Given the description of an element on the screen output the (x, y) to click on. 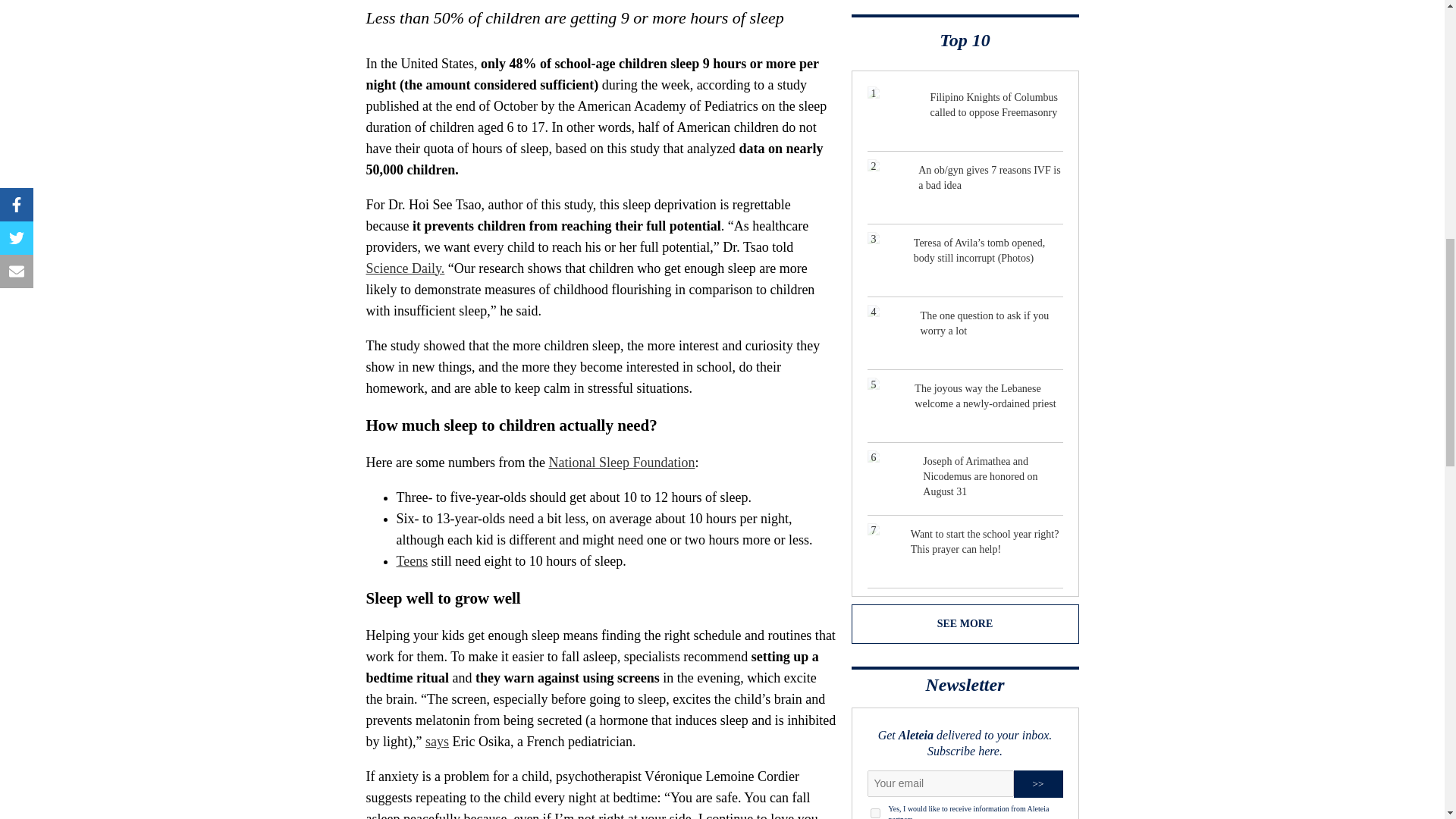
1 (875, 813)
Science Daily. (404, 268)
National Sleep Foundation (621, 462)
